Given the description of an element on the screen output the (x, y) to click on. 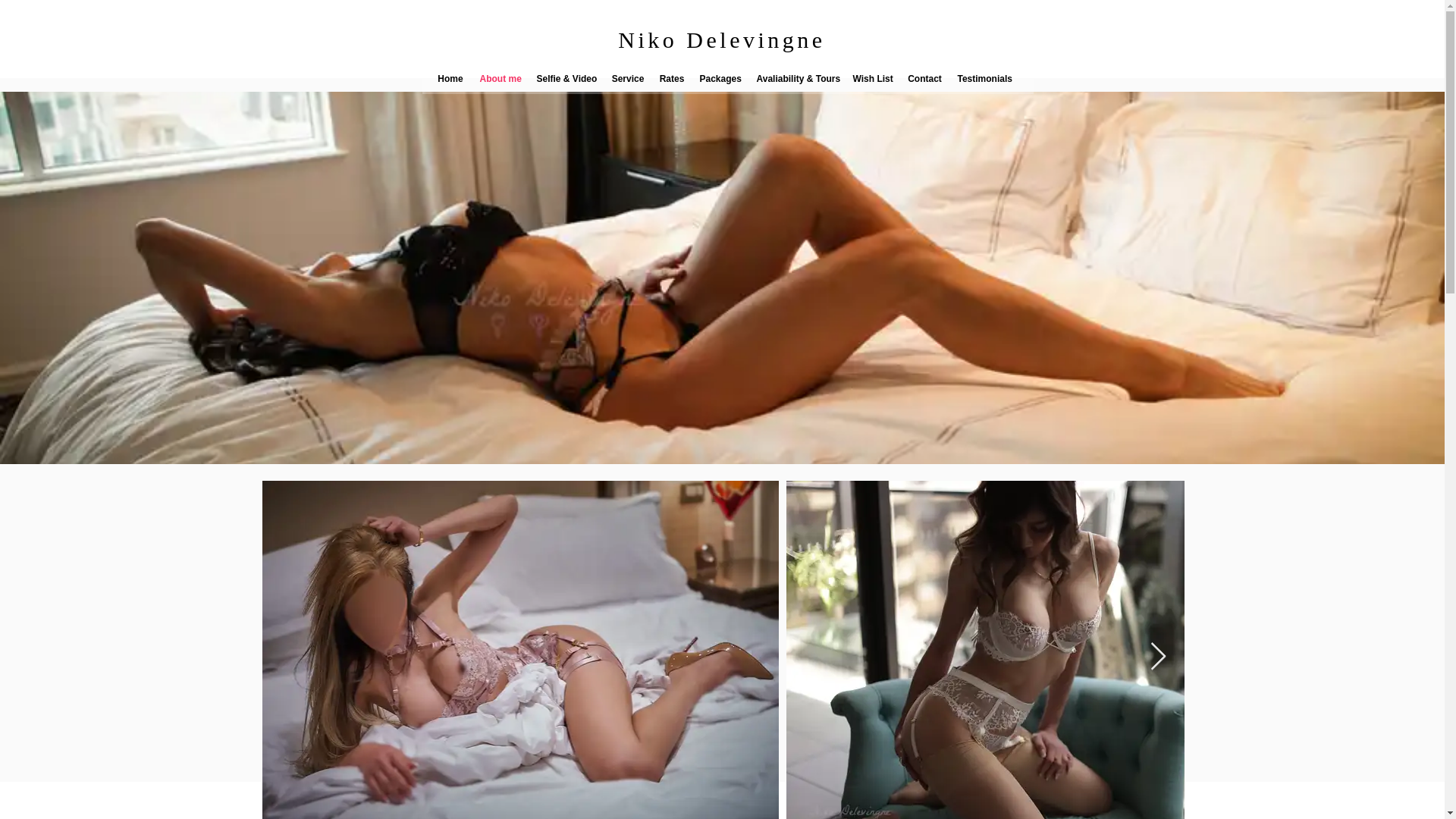
Testimonials (981, 78)
About me (499, 78)
Packages (719, 78)
Service (627, 78)
Home (450, 78)
Wish List (871, 78)
Rates (672, 78)
Contact (924, 78)
